Given the description of an element on the screen output the (x, y) to click on. 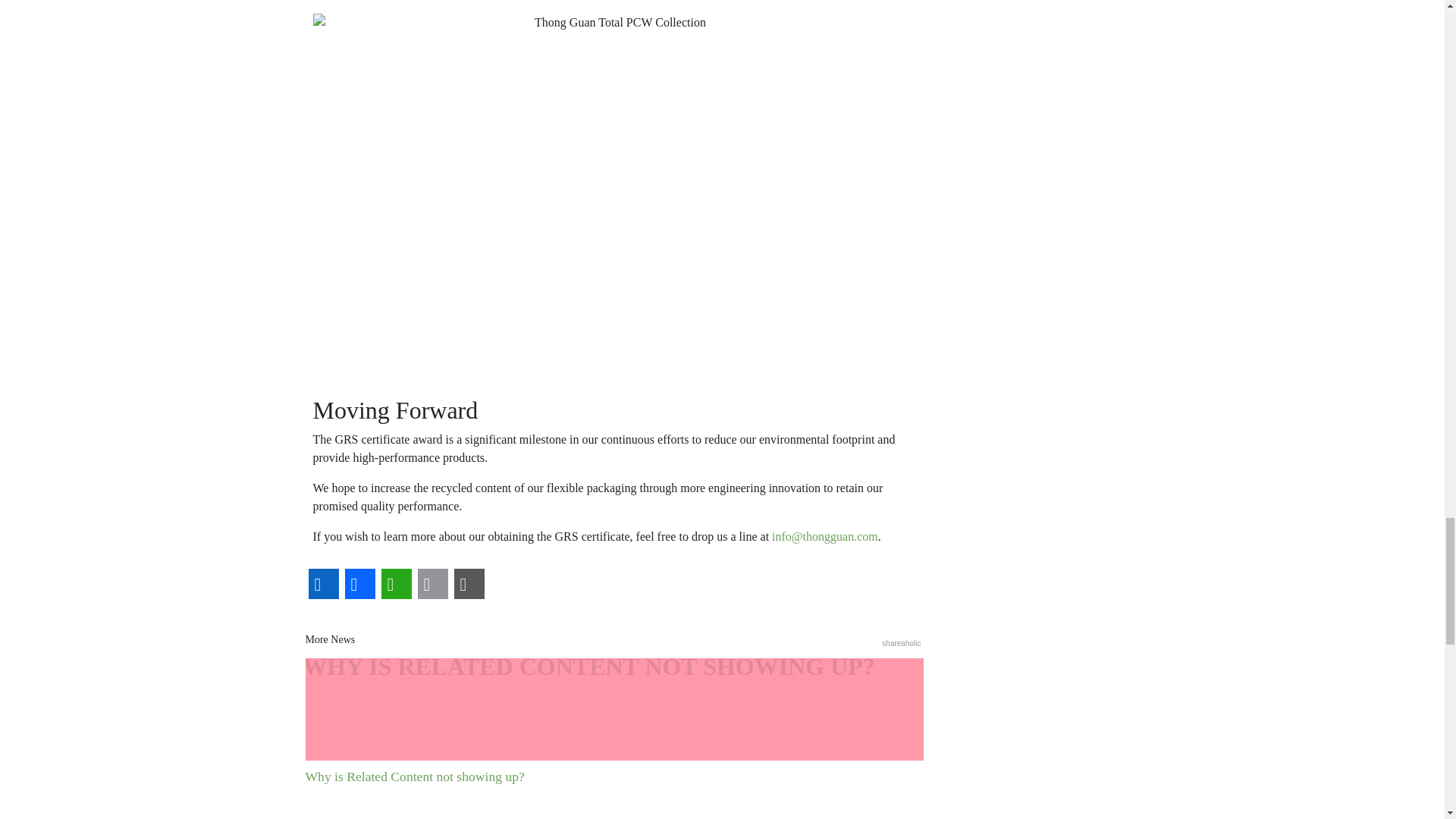
Facebook (358, 583)
Why is Related Content not showing up? (613, 721)
Email This (431, 583)
LinkedIn (322, 583)
Print (467, 583)
Website Tools by Shareaholic (901, 643)
WhatsApp (395, 583)
